Given the description of an element on the screen output the (x, y) to click on. 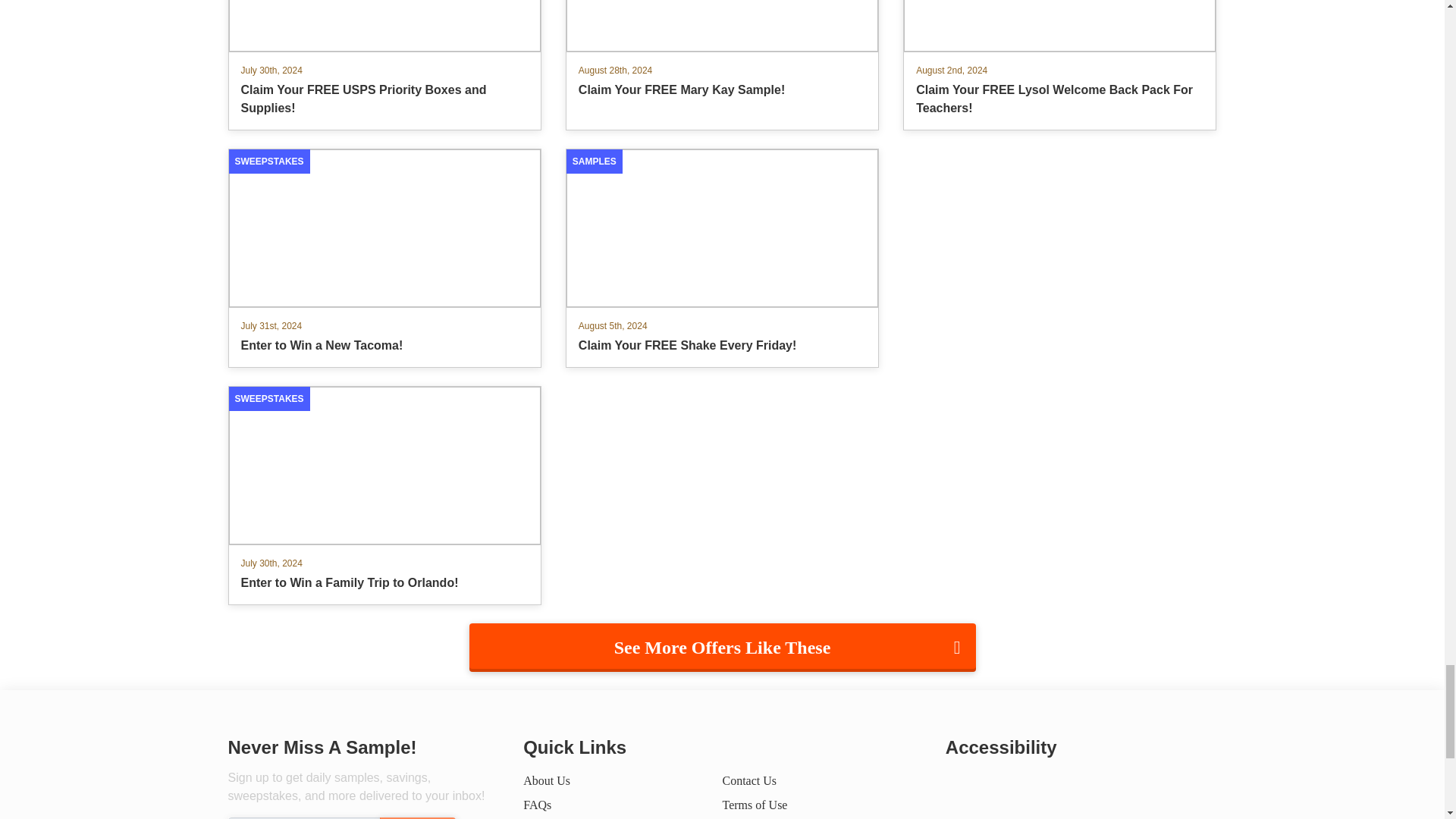
See More Offers Like These (722, 257)
Submit (721, 647)
About Us (416, 818)
FAQs (546, 780)
Terms of Use (536, 804)
